Given the description of an element on the screen output the (x, y) to click on. 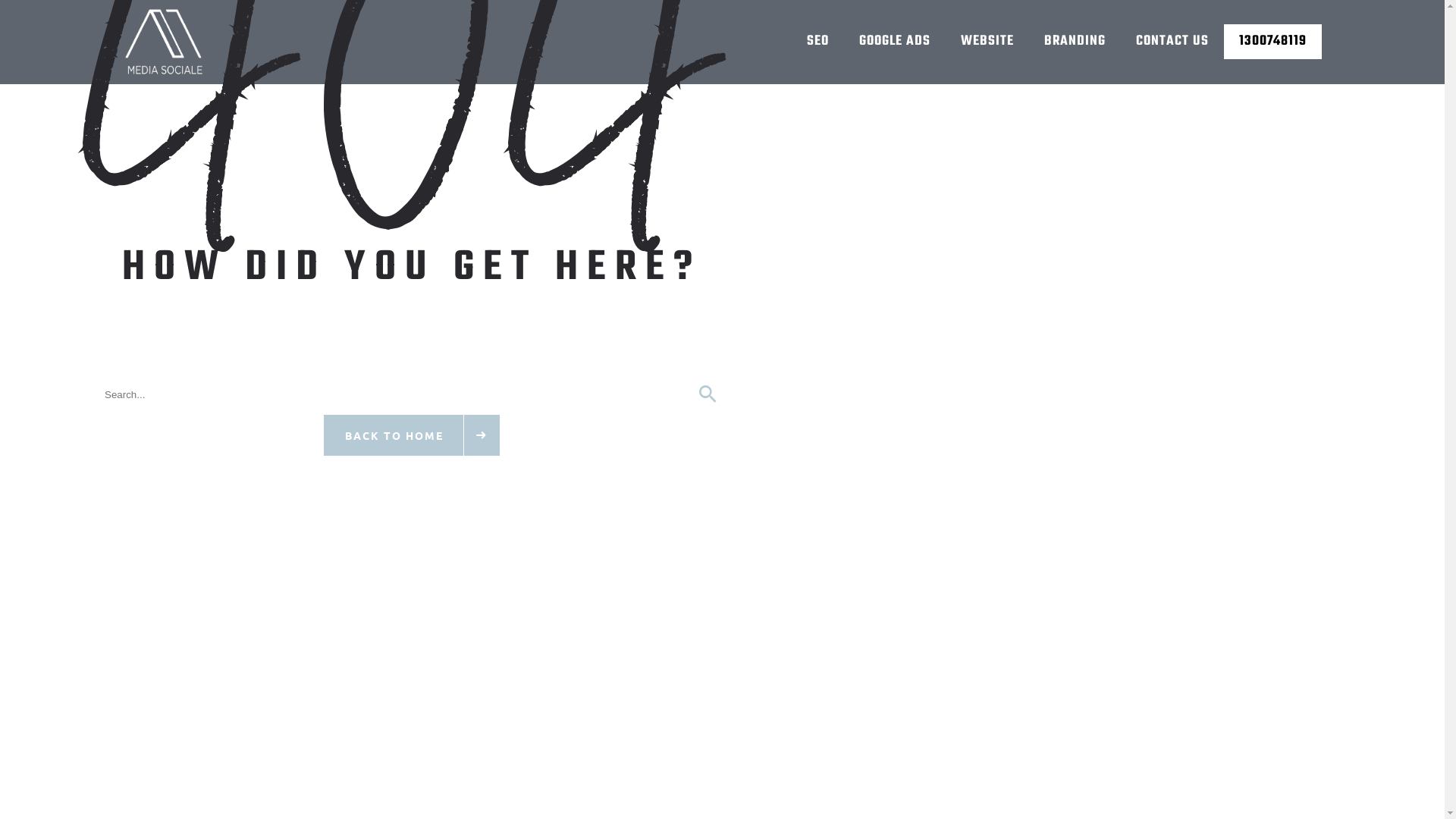
GOOGLE ADS Element type: text (893, 41)
1300748119 Element type: text (1272, 41)
WEBSITE Element type: text (986, 41)
BACK TO HOME Element type: text (411, 434)
Search for: Element type: hover (411, 394)
SEO Element type: text (817, 41)
BRANDING Element type: text (1074, 41)
CONTACT US Element type: text (1171, 41)
